Given the description of an element on the screen output the (x, y) to click on. 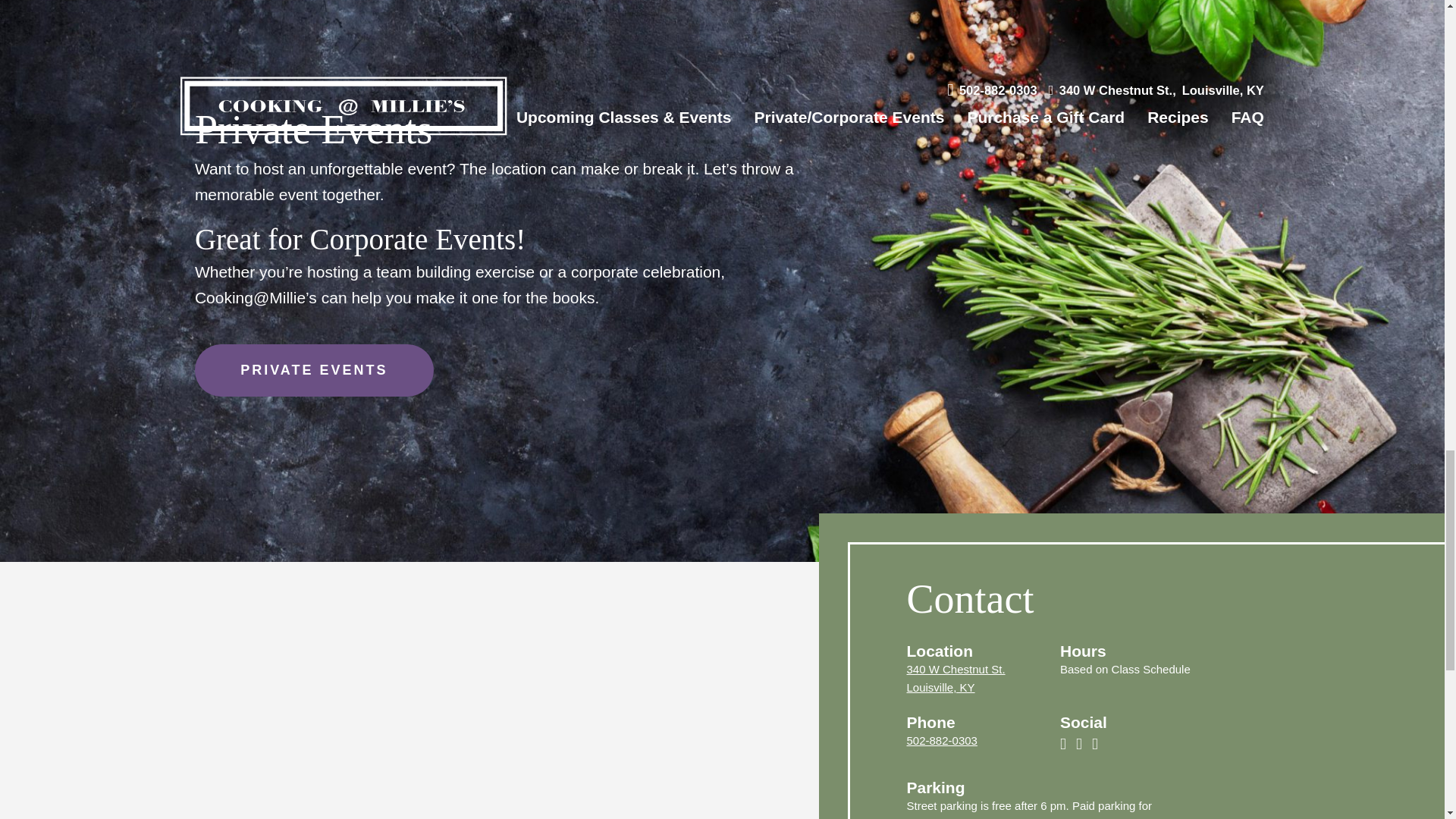
PRIVATE EVENTS (314, 369)
502-882-0303 (956, 677)
